Given the description of an element on the screen output the (x, y) to click on. 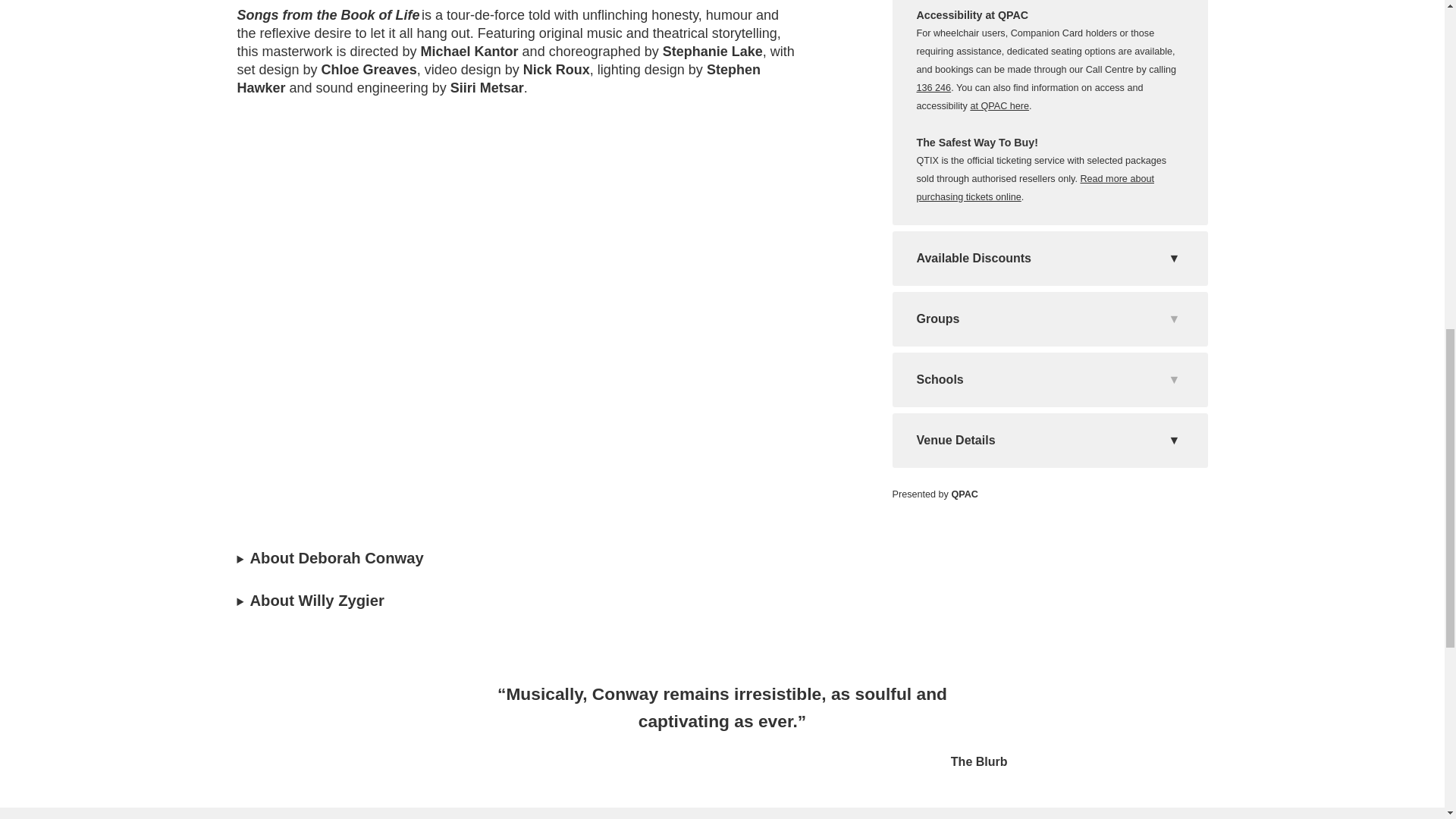
Call QTIX Call Centre (932, 87)
Schools (1048, 380)
Groups (1048, 319)
at QPAC here (999, 105)
136 246 (932, 87)
Read more about purchasing tickets online (1034, 187)
The Safest Way To Buy! (1034, 187)
